Given the description of an element on the screen output the (x, y) to click on. 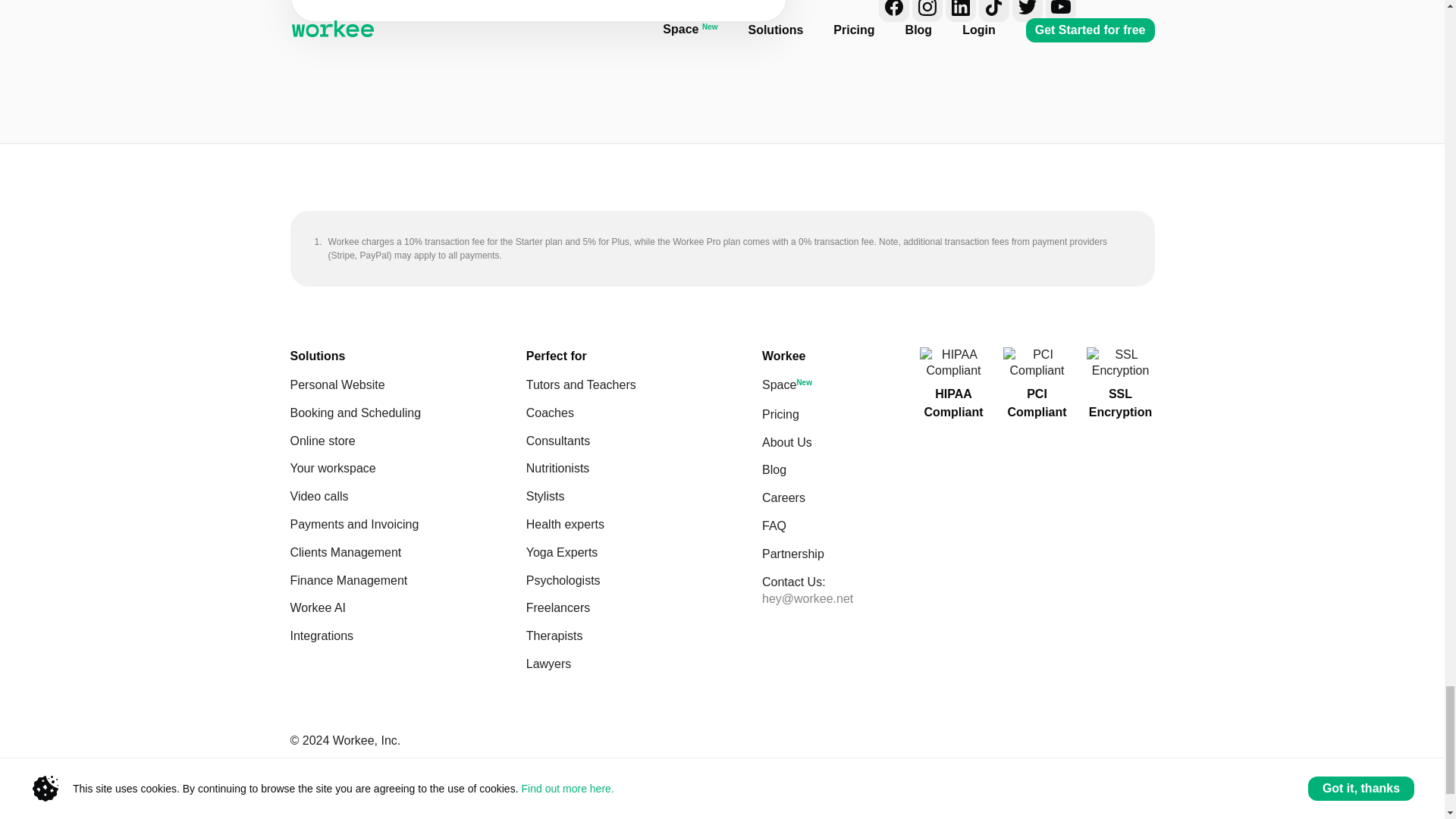
Booking and Scheduling (407, 413)
Online store (407, 441)
Solutions (317, 355)
Your workspace (407, 468)
Video calls (407, 496)
Personal Website (407, 385)
